Given the description of an element on the screen output the (x, y) to click on. 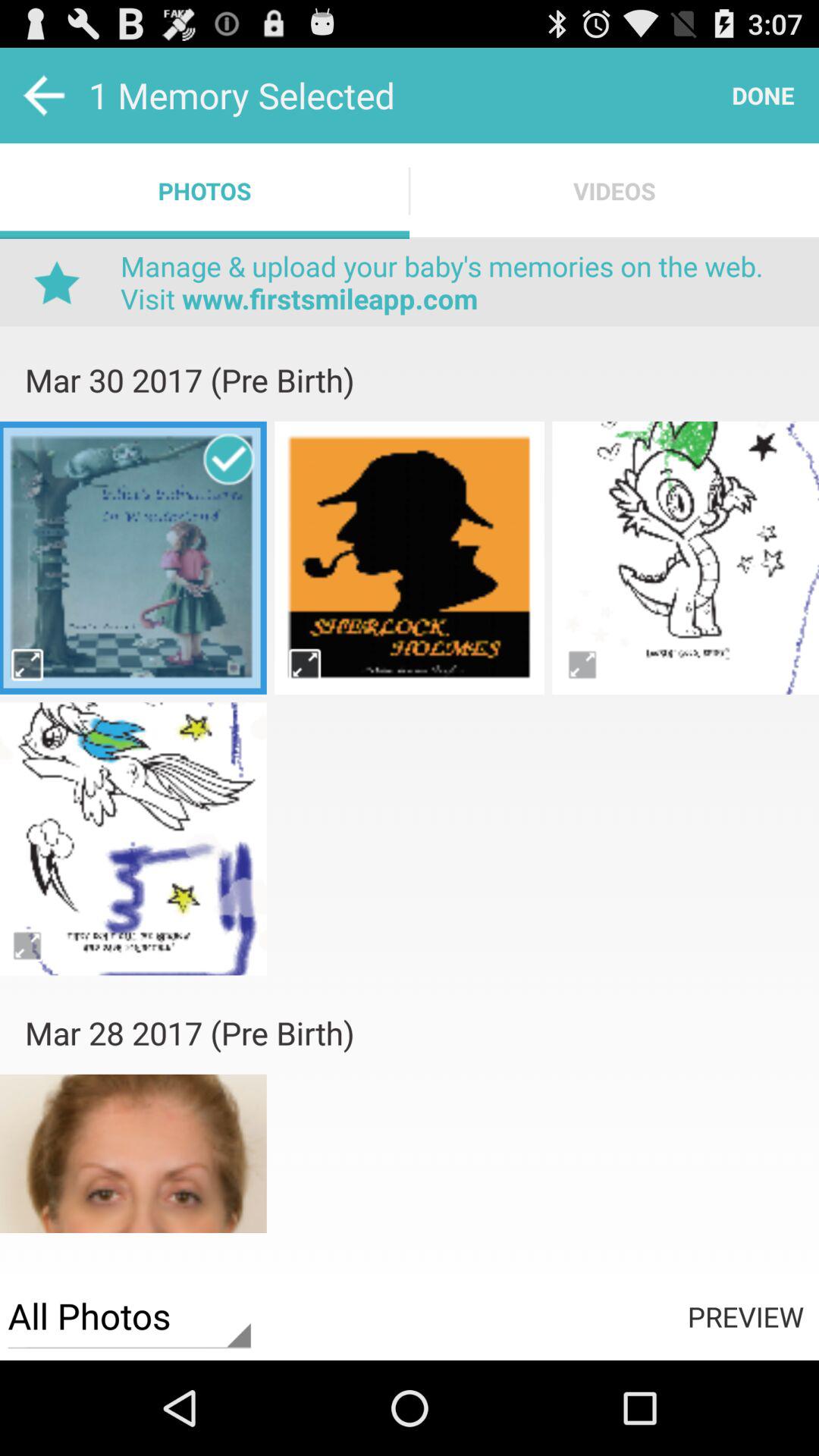
vedio select button (28, 664)
